Given the description of an element on the screen output the (x, y) to click on. 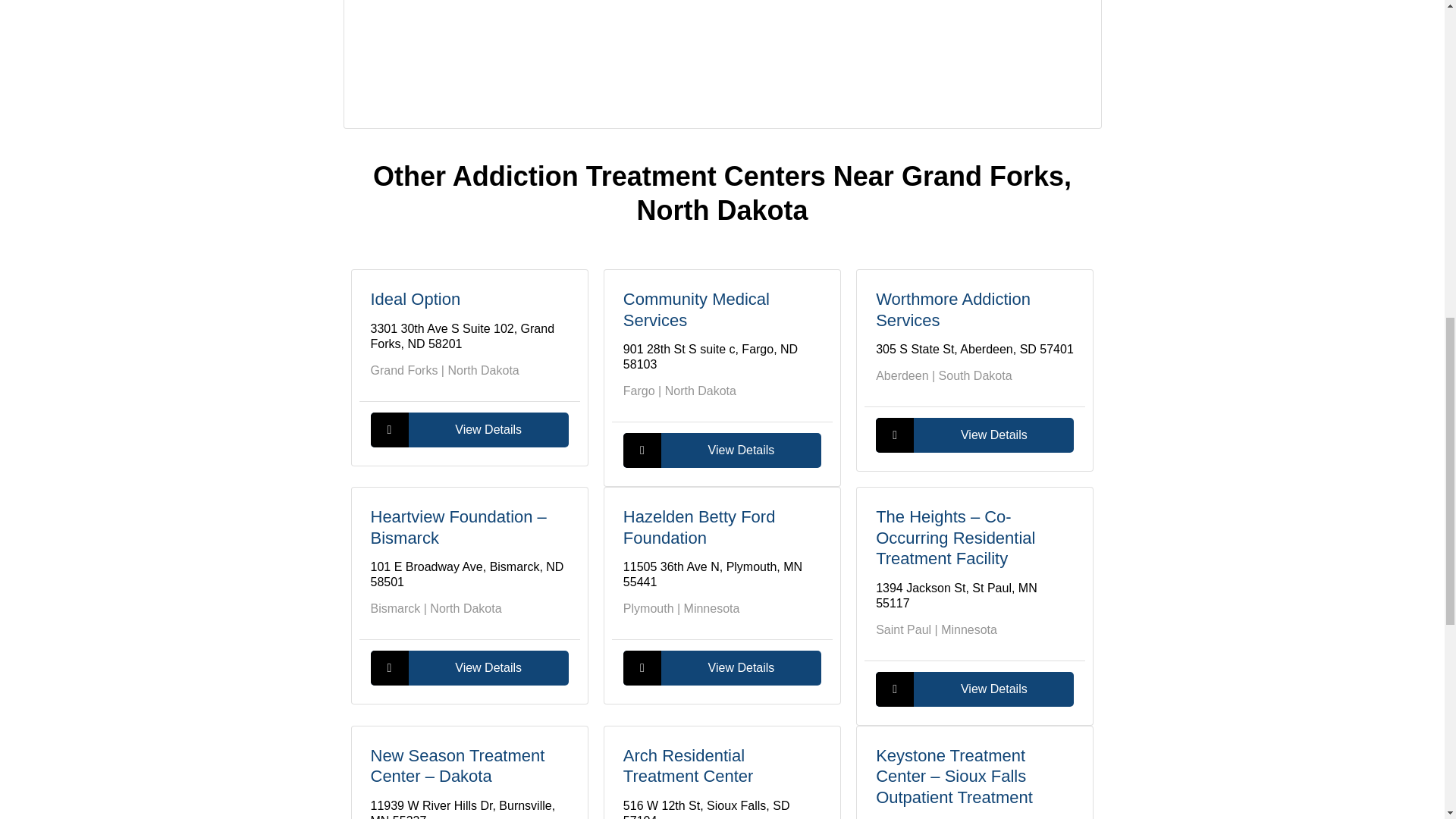
Community Medical Services (696, 309)
View Details (975, 688)
Worthmore Addiction Services (953, 309)
View Details (722, 667)
View Details (722, 450)
View Details (468, 429)
Arch Residential Treatment Center (688, 766)
Hazelden Betty Ford Foundation (699, 526)
View Details (468, 667)
View Details (975, 434)
